Given the description of an element on the screen output the (x, y) to click on. 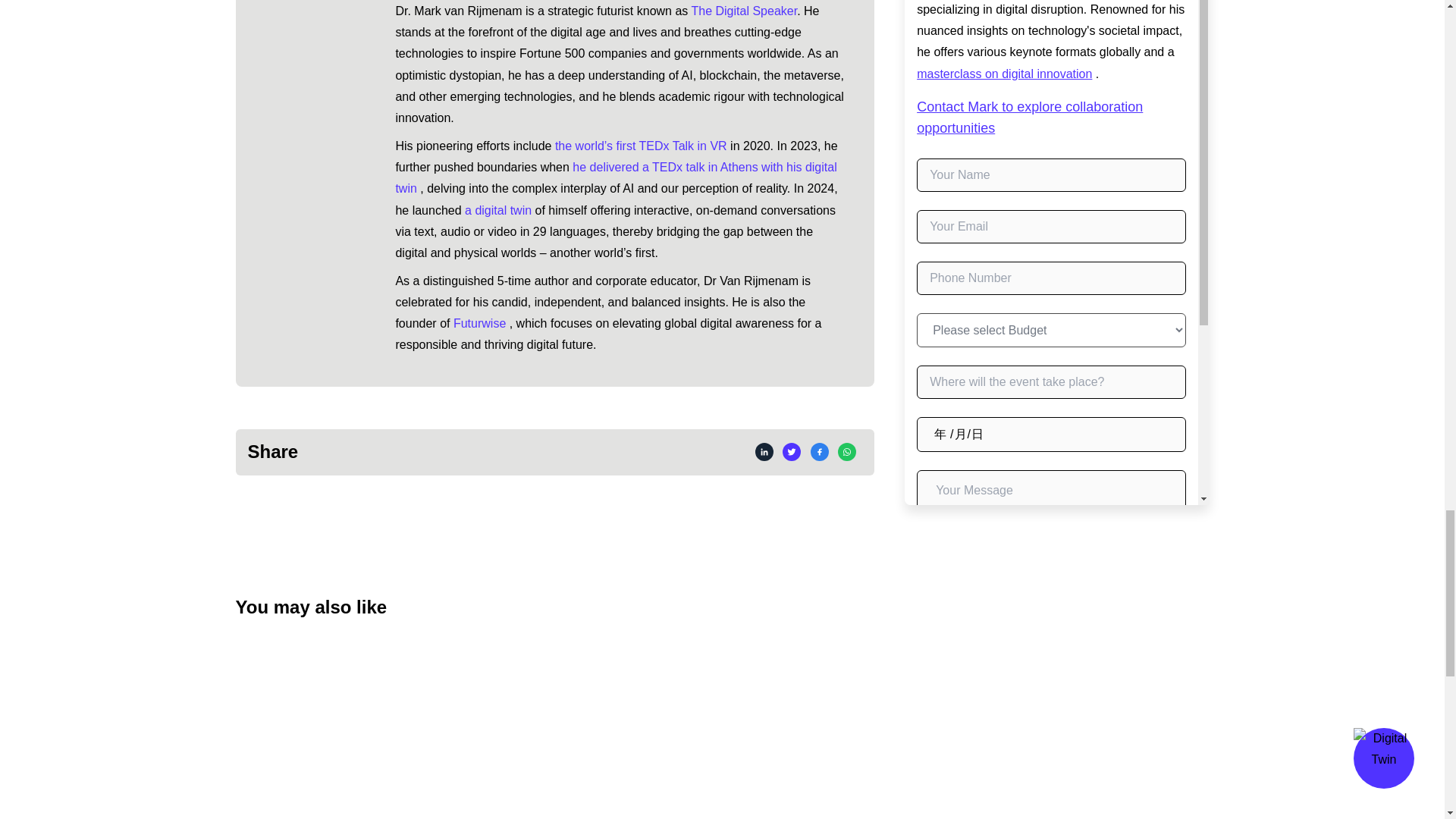
Yes (921, 266)
Share on Twitter (791, 452)
Share on whatsapp (847, 452)
Share on Linkedin (764, 452)
Share on Facebook (819, 452)
Yes (921, 298)
